Given the description of an element on the screen output the (x, y) to click on. 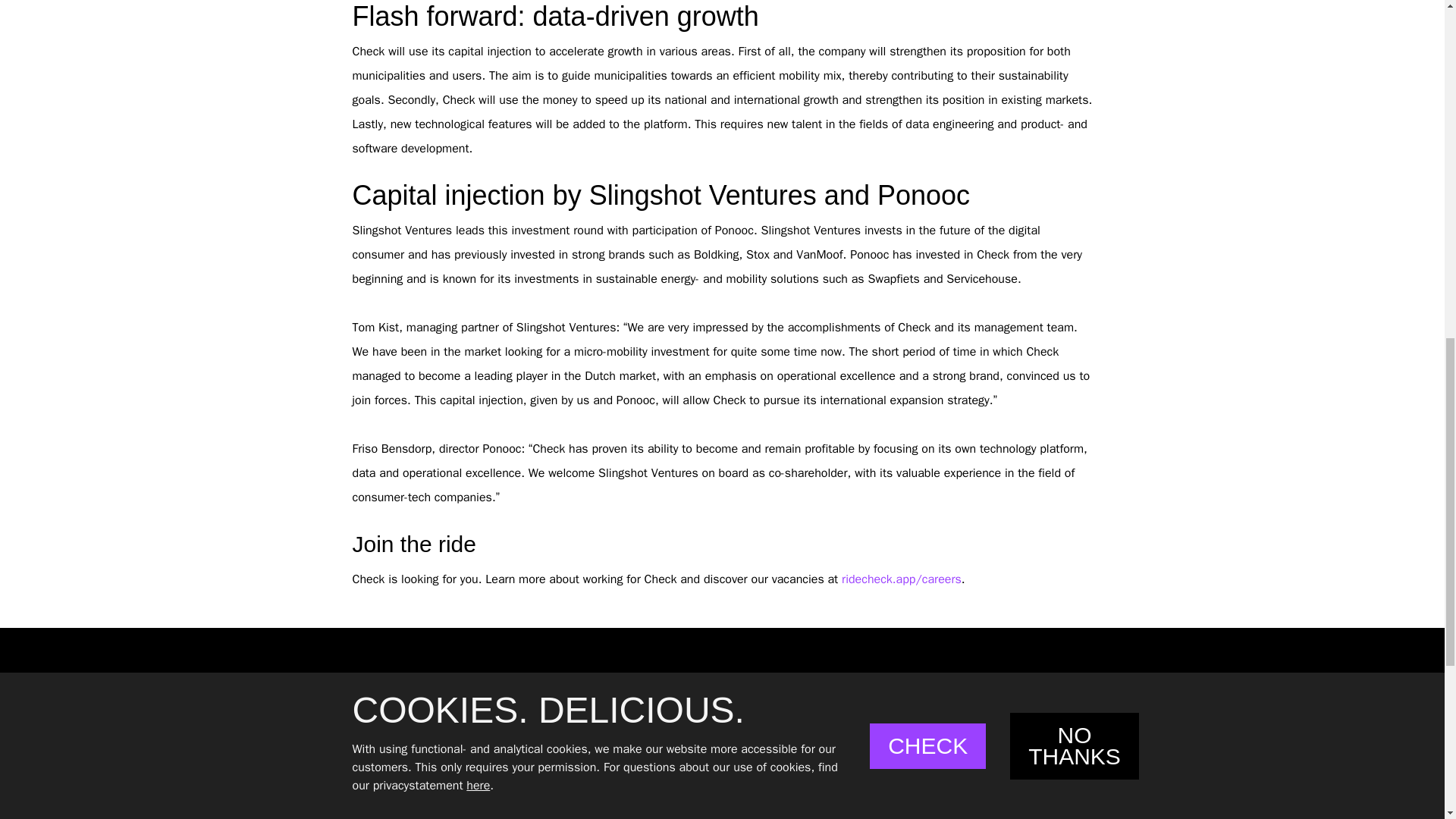
FAQ (671, 756)
JOBS (678, 795)
SHOP (680, 817)
